Given the description of an element on the screen output the (x, y) to click on. 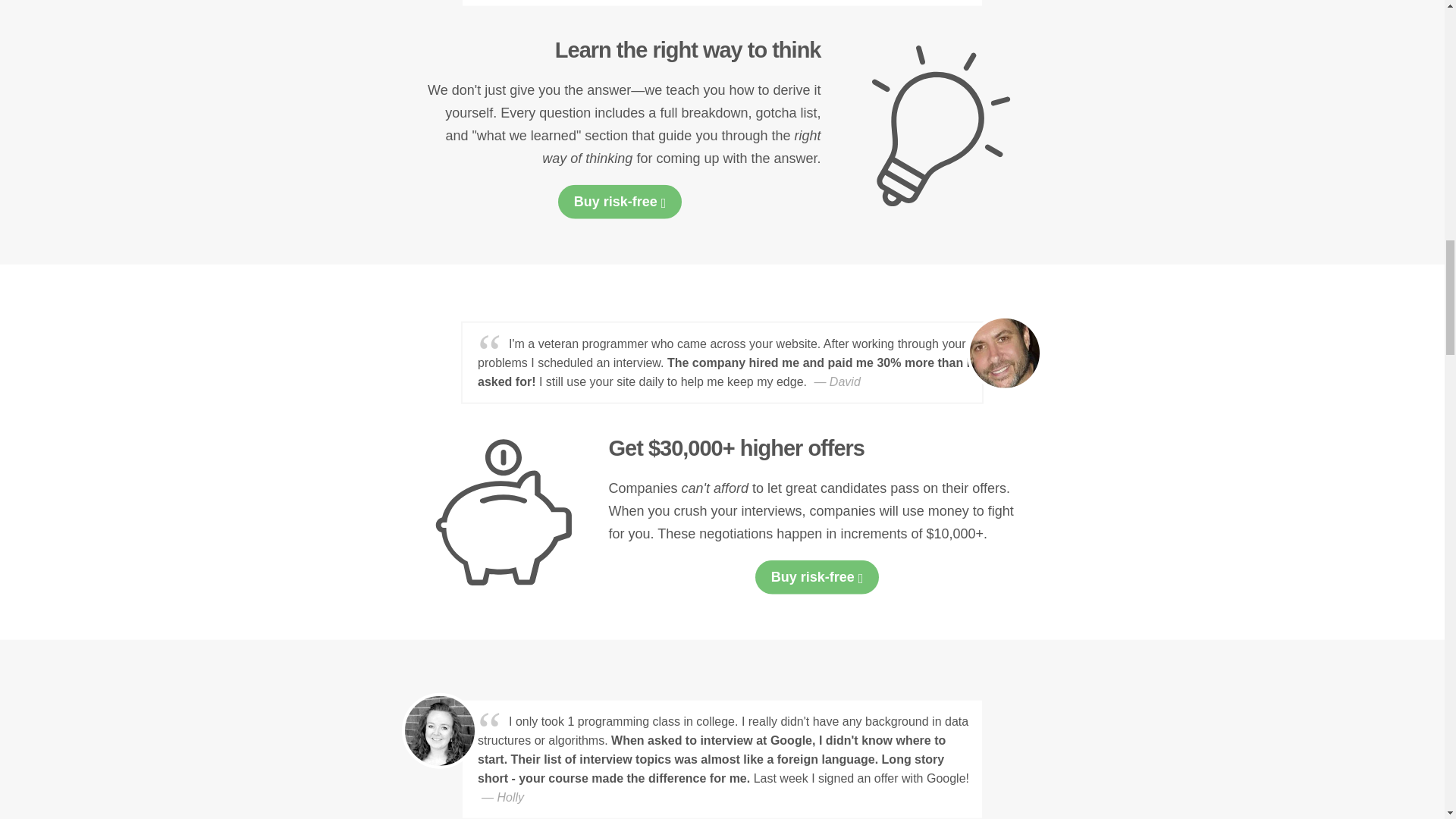
Buy risk-free (817, 577)
Buy risk-free (619, 202)
